Given the description of an element on the screen output the (x, y) to click on. 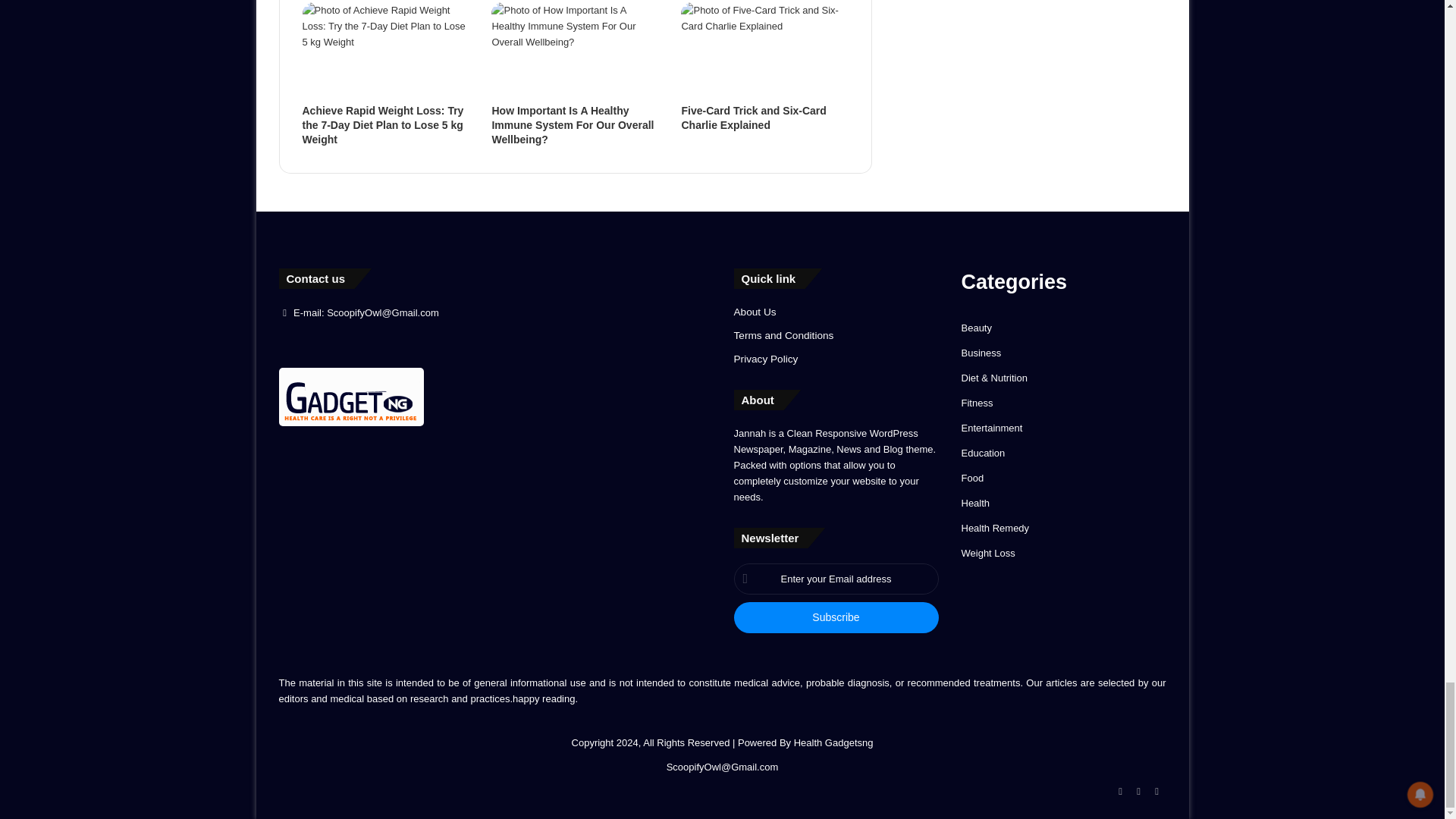
Subscribe (836, 617)
